Given the description of an element on the screen output the (x, y) to click on. 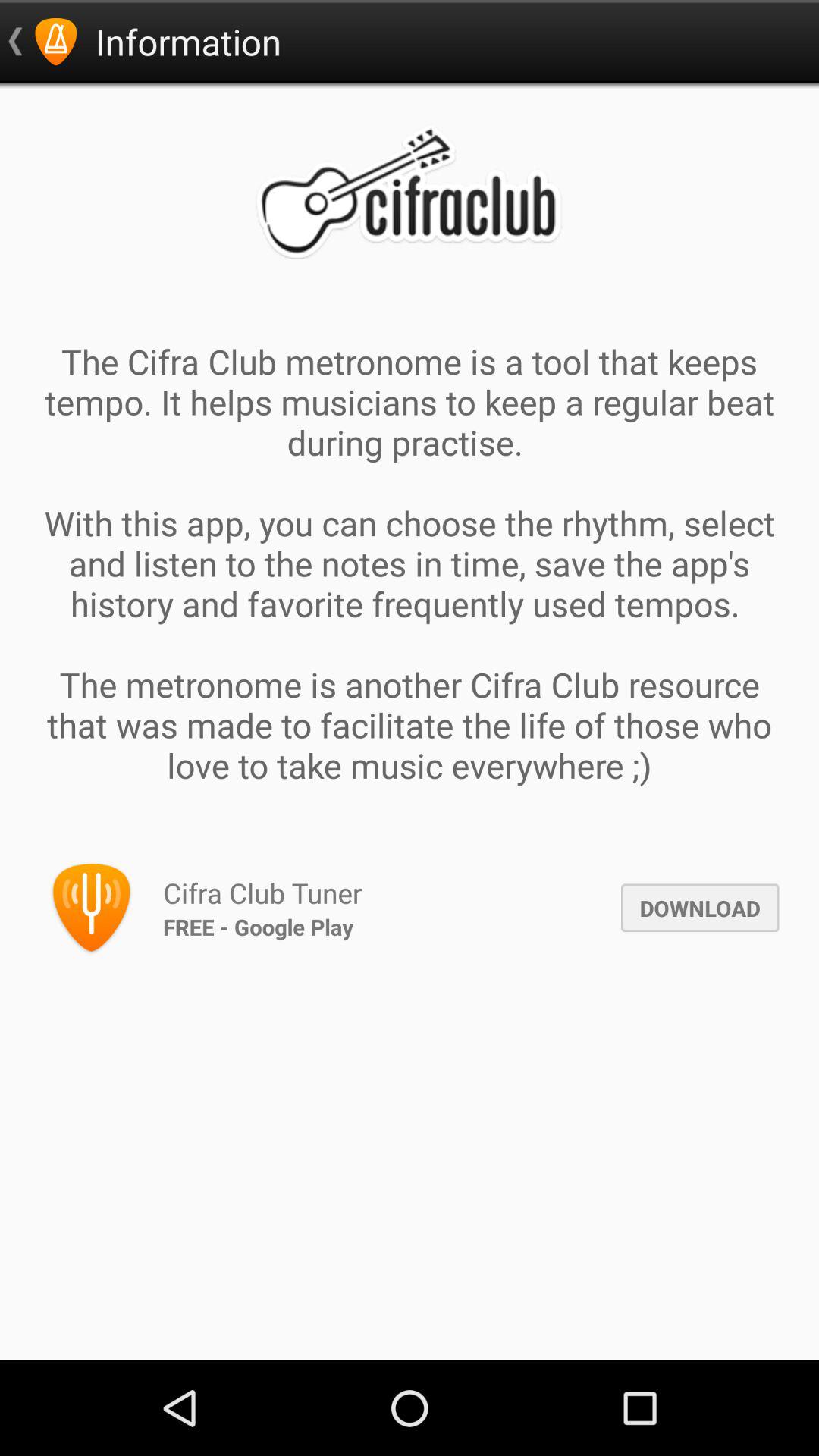
select item to the right of the cifra club tuner item (700, 907)
